Given the description of an element on the screen output the (x, y) to click on. 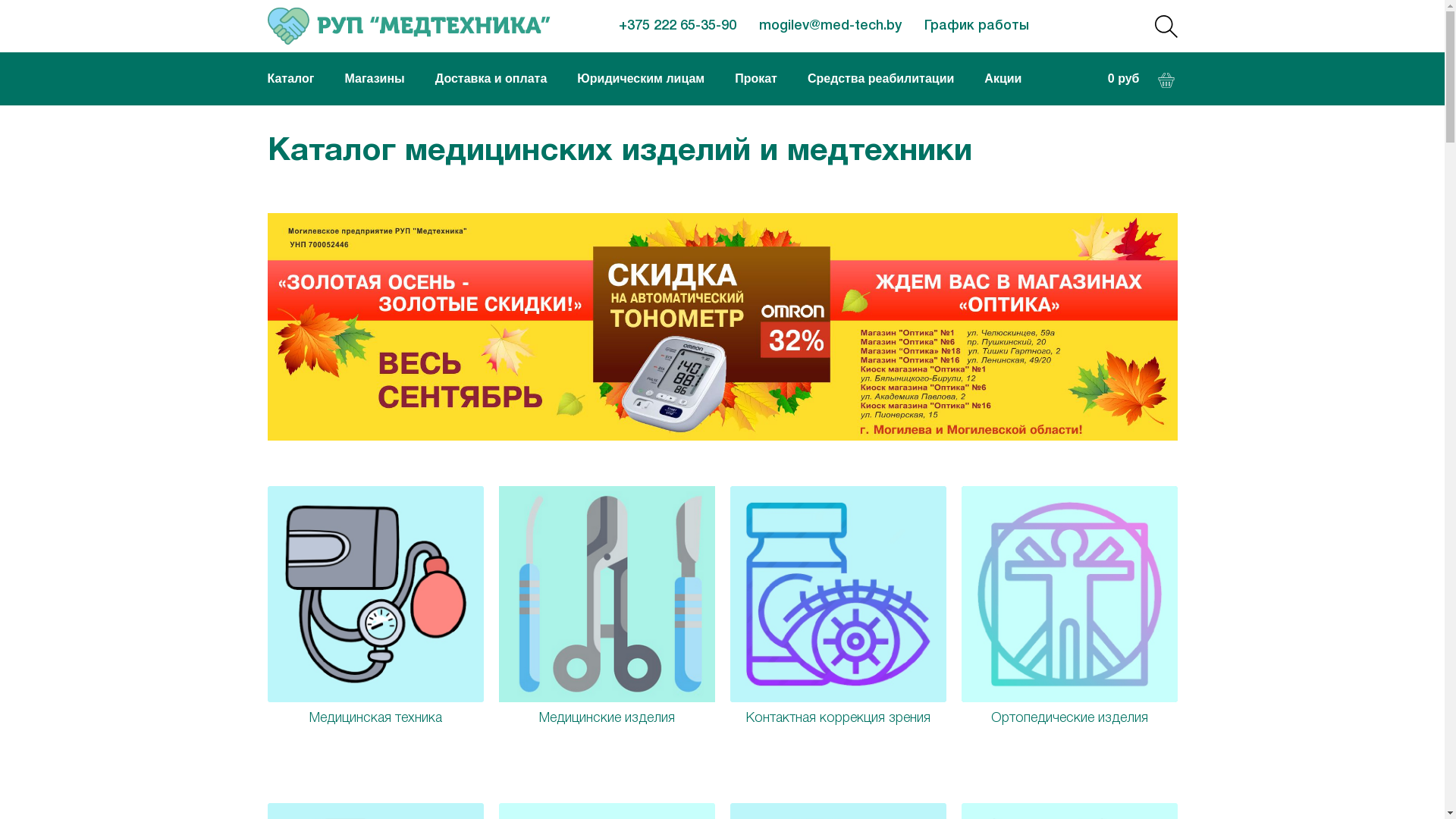
mogilev@med-tech.by Element type: text (829, 25)
+375 222 65-35-90 Element type: text (677, 25)
